Given the description of an element on the screen output the (x, y) to click on. 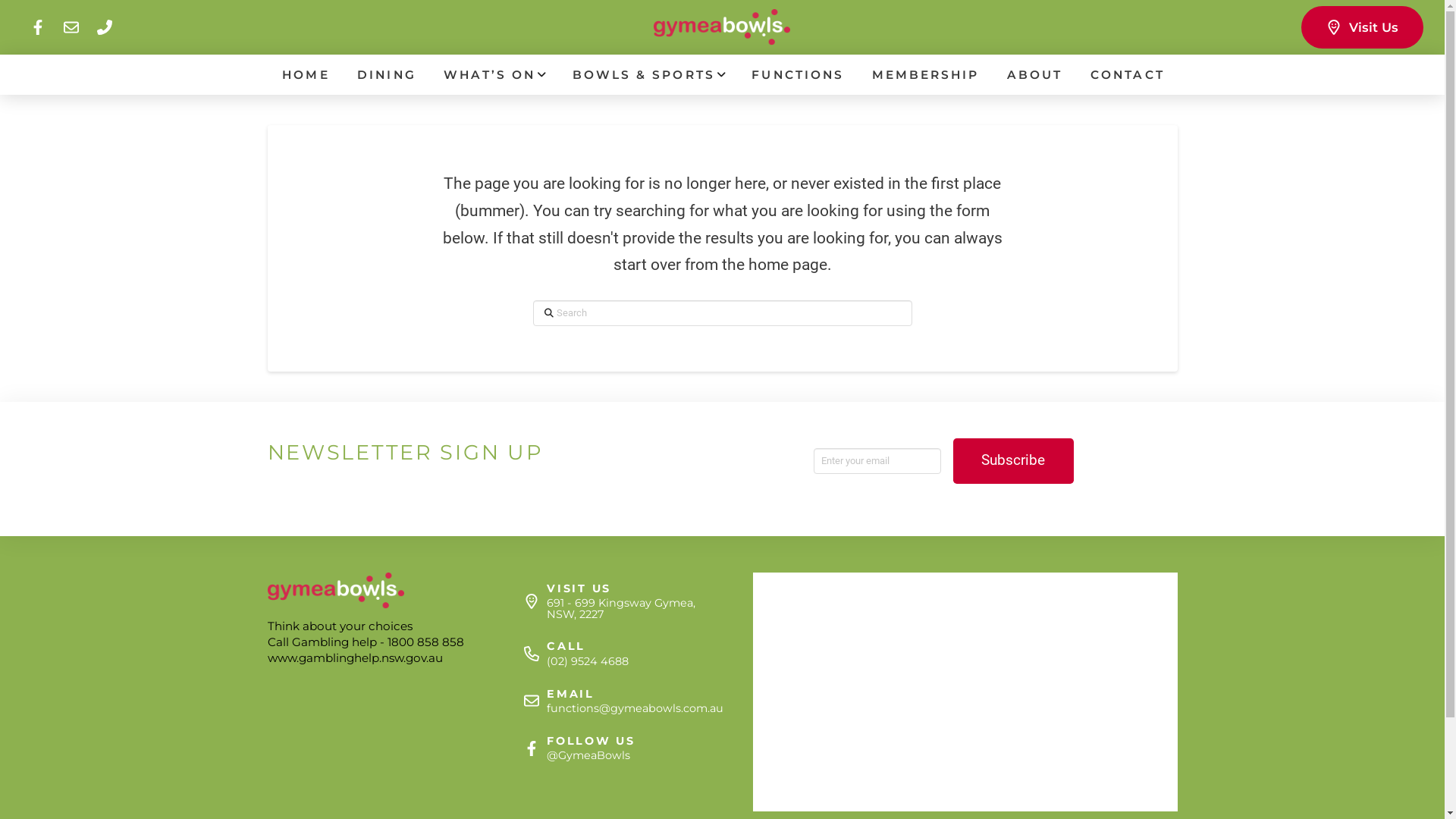
EMAIL
functions@gymeabowls.com.au Element type: text (618, 700)
HOME Element type: text (304, 74)
www.gamblinghelp.nsw.gov.au Element type: text (354, 657)
CALL
(02) 9524 4688 Element type: text (618, 653)
Visit Us Element type: text (1362, 27)
DINING Element type: text (385, 74)
ABOUT Element type: text (1033, 74)
BOWLS & SPORTS Element type: text (646, 74)
CONTACT Element type: text (1125, 74)
FUNCTIONS Element type: text (796, 74)
FOLLOW US
@GymeaBowls Element type: text (618, 747)
Subscribe Element type: text (1013, 460)
VISIT US
691 - 699 Kingsway Gymea, NSW, 2227 Element type: text (618, 601)
MEMBERSHIP Element type: text (924, 74)
1800 858 858 Element type: text (424, 641)
